Given the description of an element on the screen output the (x, y) to click on. 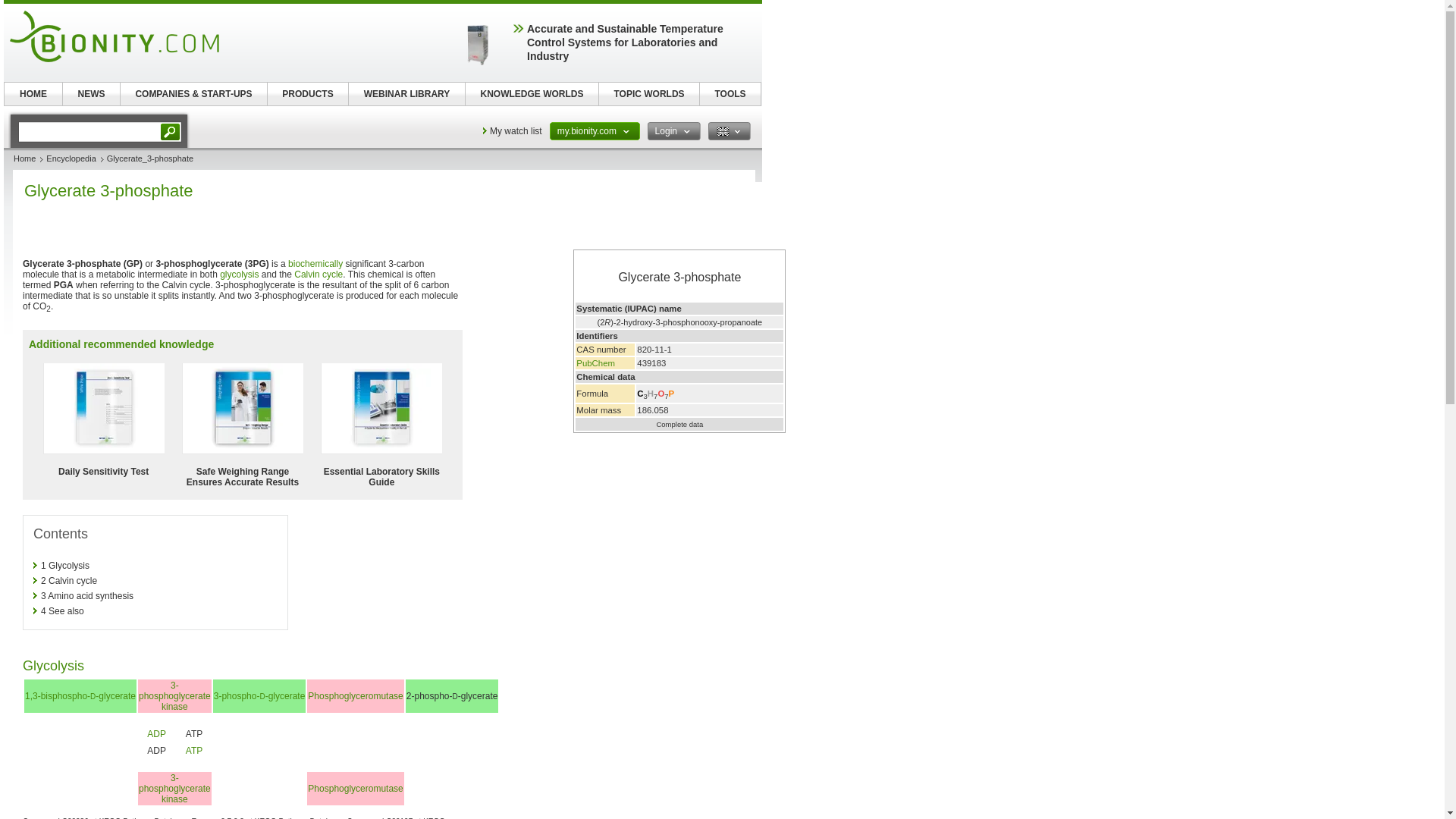
biochemically (315, 263)
Essential Laboratory Skills Guide (381, 476)
1,3-bisphosphoglycerate (79, 696)
my.bionity.com   (595, 131)
Safe Weighing Range Ensures Accurate Results (242, 476)
PubChem (595, 362)
Phosphoglyceromutase (355, 787)
go (171, 131)
ADP (156, 733)
